Given the description of an element on the screen output the (x, y) to click on. 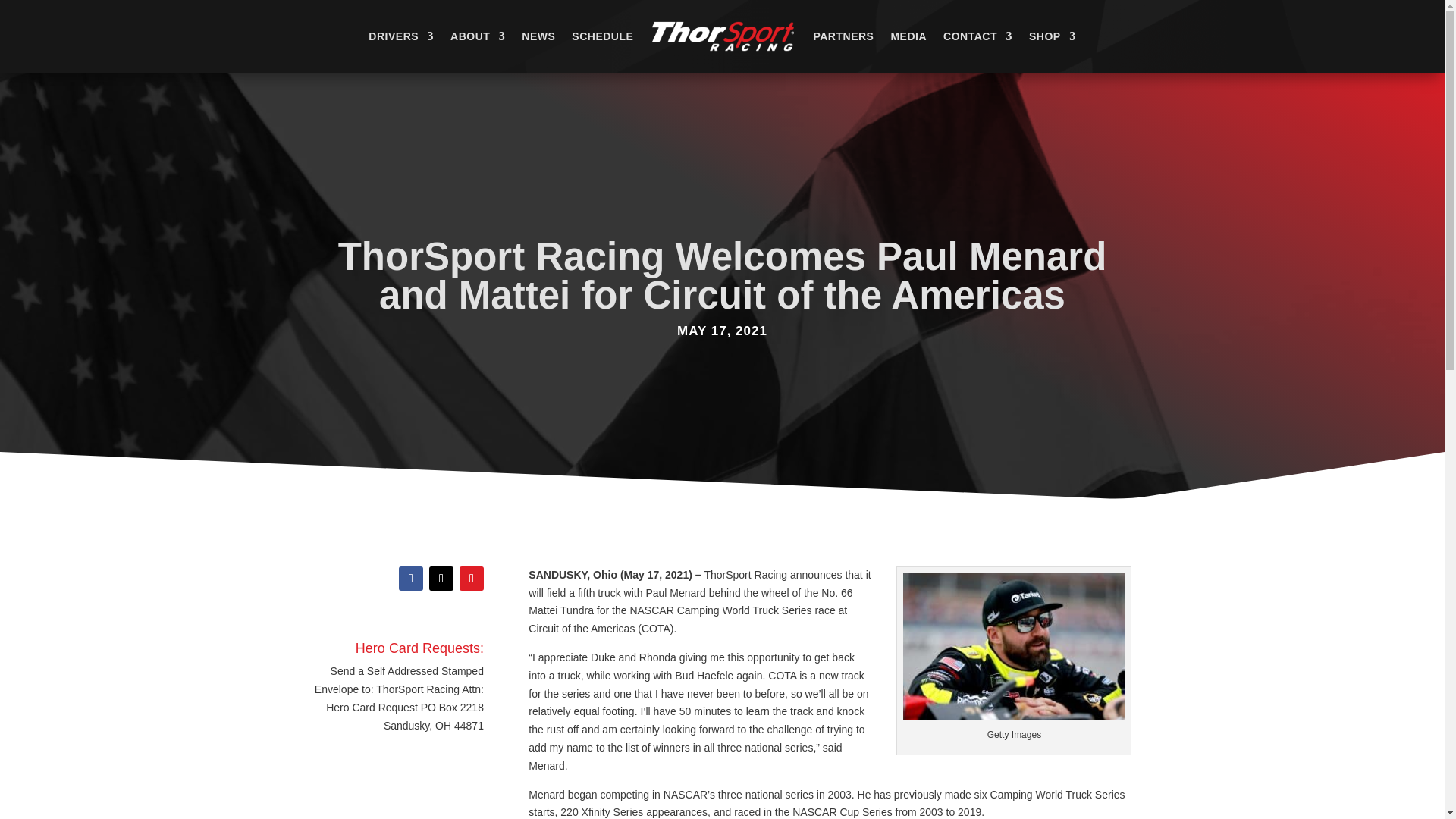
Follow on X (440, 578)
ABOUT (477, 36)
DRIVERS (400, 36)
SHOP (1052, 36)
CONTACT (977, 36)
Follow on Facebook (410, 578)
SCHEDULE (602, 36)
NEWS (537, 36)
PARTNERS (842, 36)
Follow on Instagram (471, 578)
MEDIA (907, 36)
Getty Images (1013, 647)
